Given the description of an element on the screen output the (x, y) to click on. 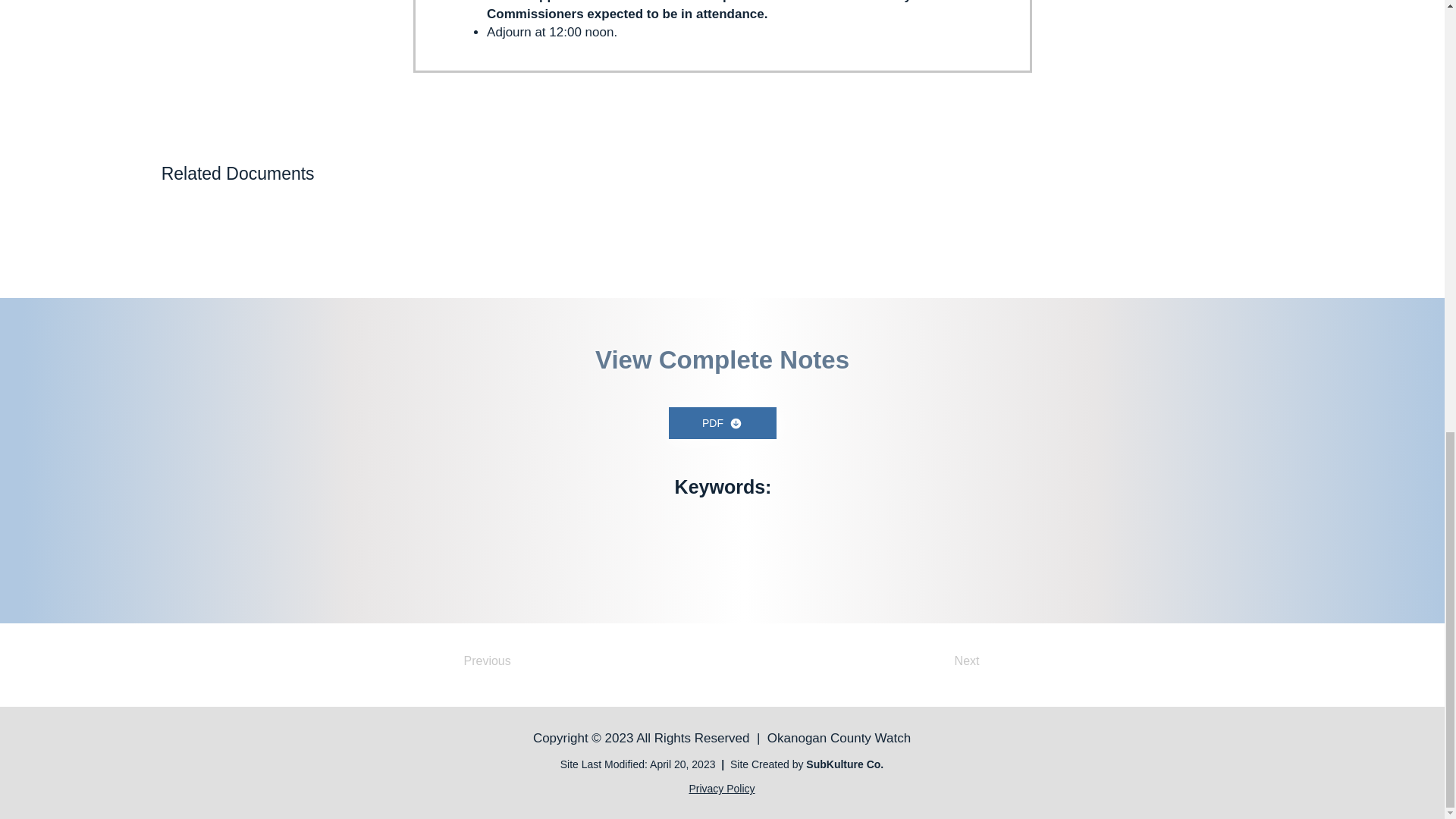
Previous (514, 661)
SubKult (826, 764)
ure Co. (865, 764)
Next (941, 661)
PDF (722, 422)
Privacy Policy (721, 788)
